Given the description of an element on the screen output the (x, y) to click on. 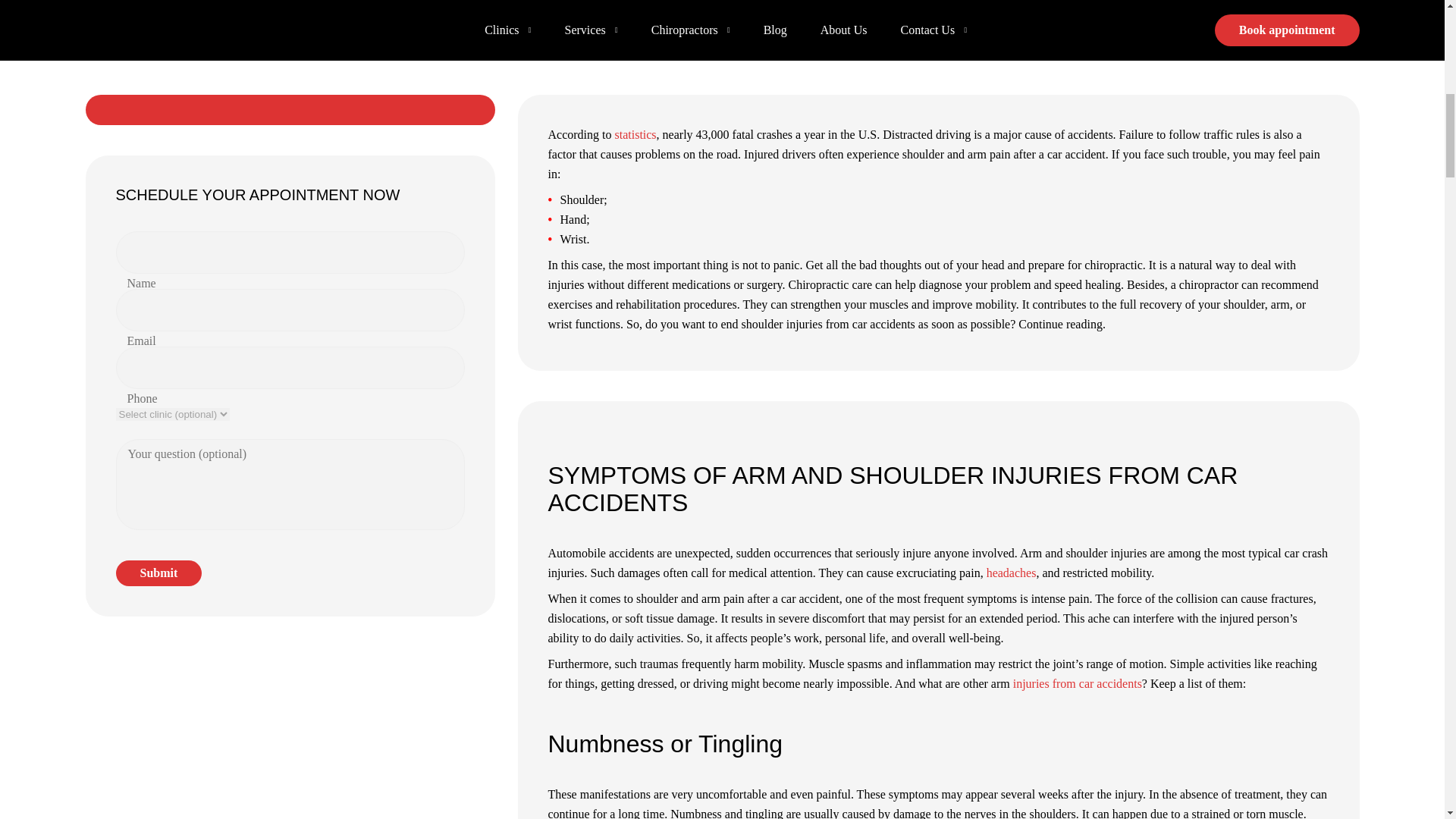
Nearly 43,000 people died on US roads last year (635, 133)
Headaches after a car accident (1011, 572)
Submit (158, 573)
